Given the description of an element on the screen output the (x, y) to click on. 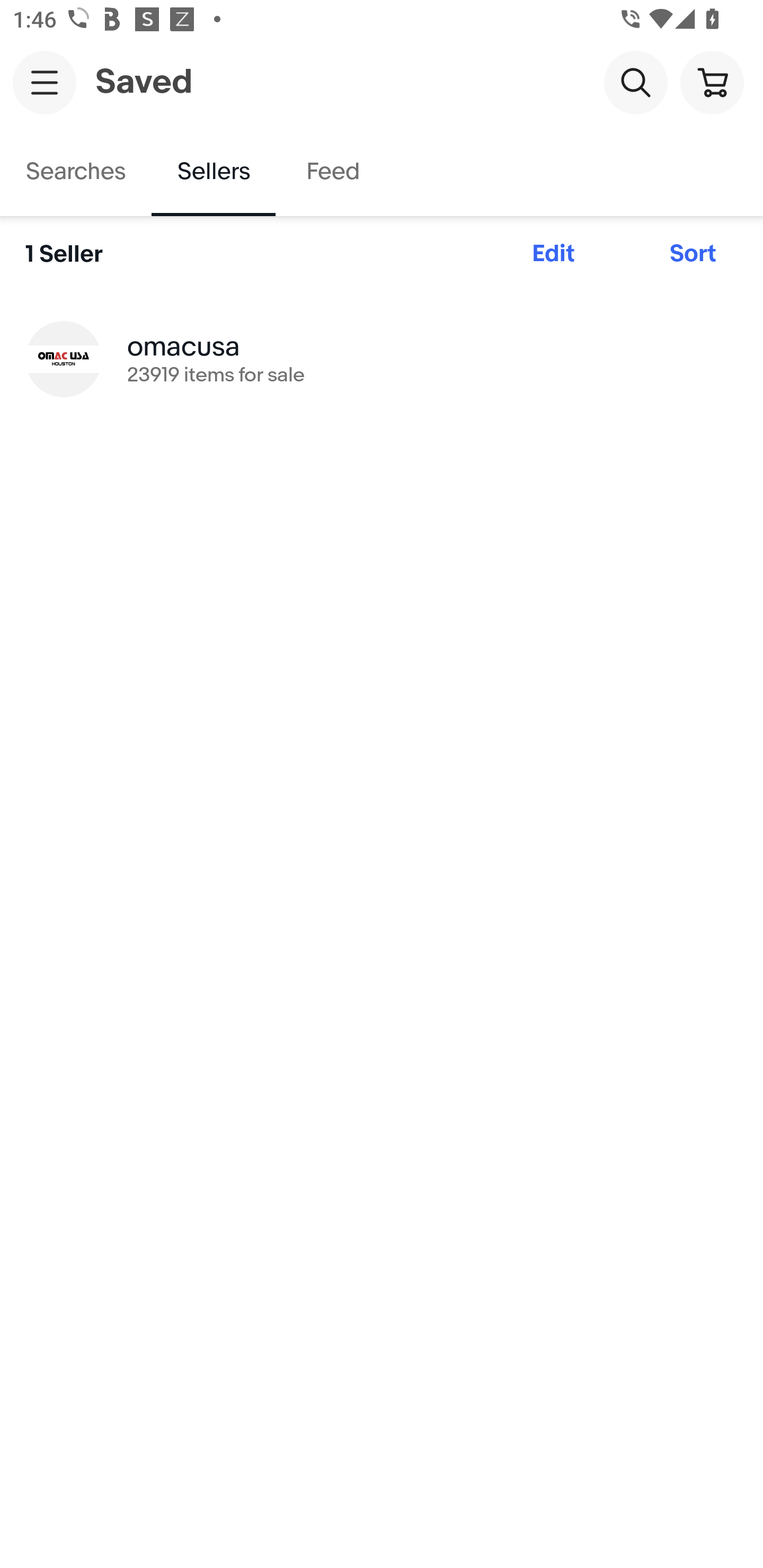
Main navigation, open (44, 82)
Search (635, 81)
Cart button shopping cart (711, 81)
Searches (75, 171)
Feed (332, 171)
Edit (552, 253)
Sort (693, 253)
omacusa 23919 items for sale (381, 357)
